Given the description of an element on the screen output the (x, y) to click on. 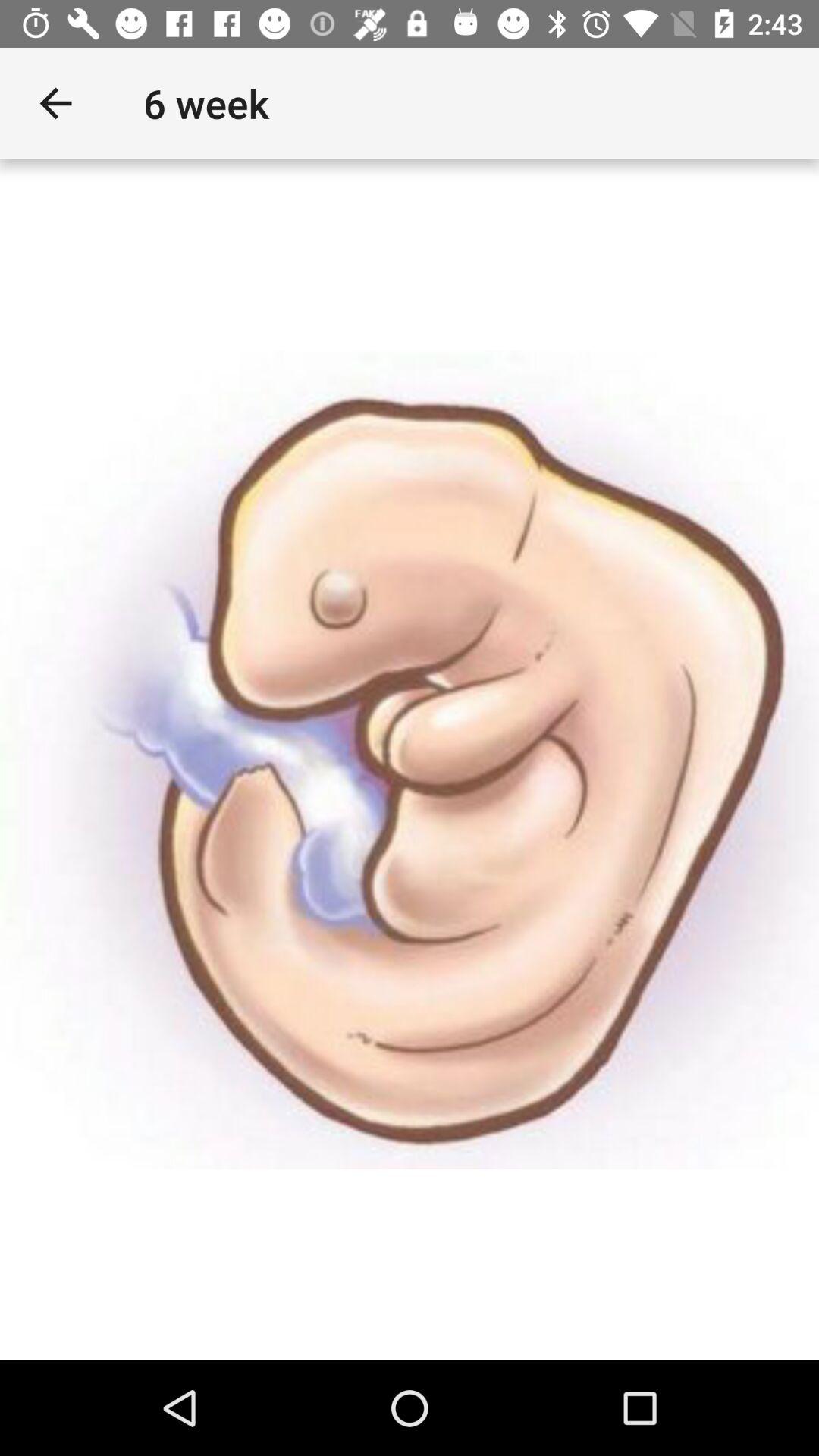
choose the app to the left of the 6 week item (55, 103)
